Given the description of an element on the screen output the (x, y) to click on. 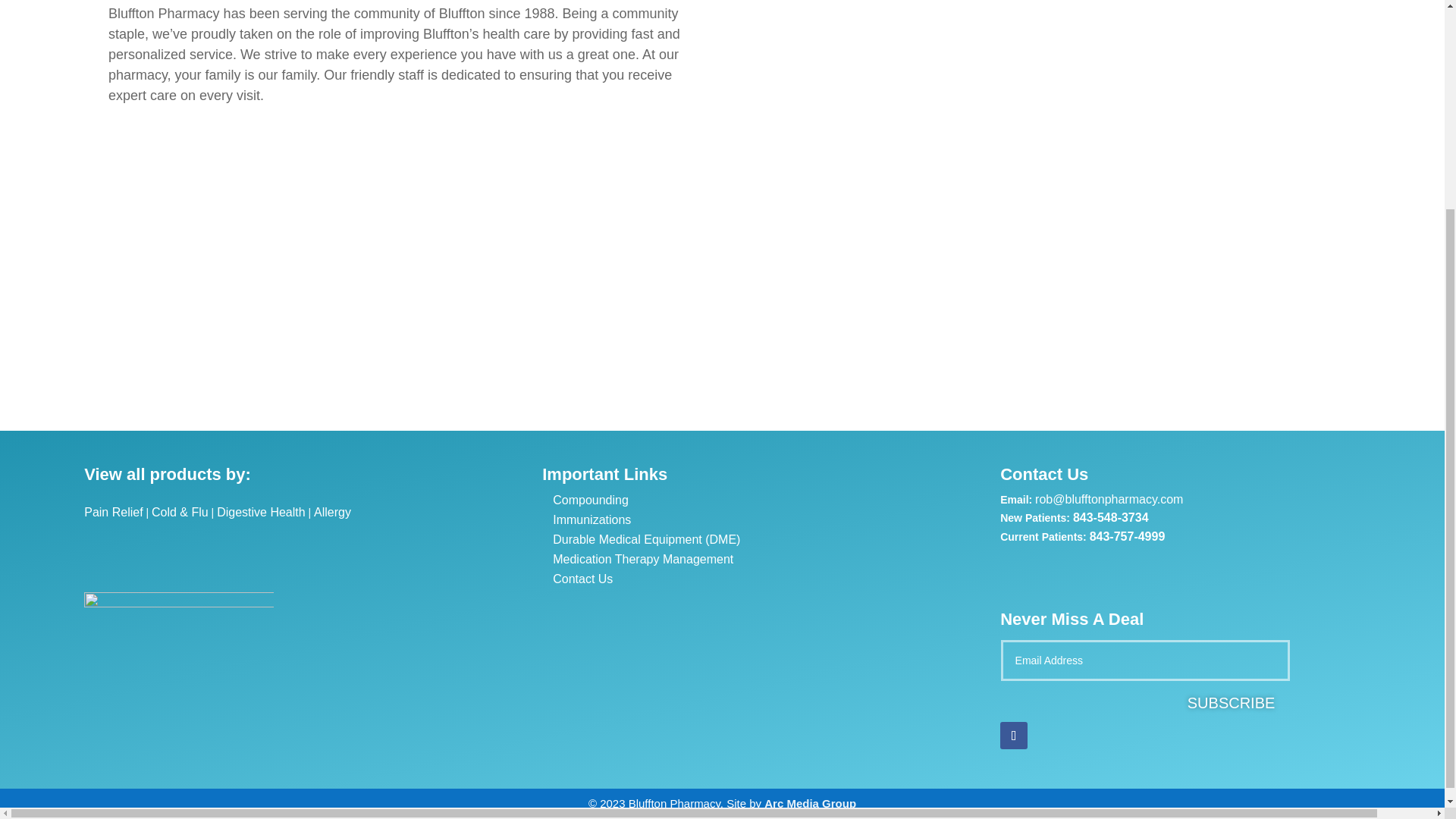
Bluffton Pharmacy Logo White (178, 633)
Compounding (590, 499)
Immunizations (591, 519)
Pain Relief (113, 512)
Medication Therapy Management (643, 558)
Digestive Health (260, 512)
Follow on Facebook (1013, 735)
Allergy (332, 512)
